Given the description of an element on the screen output the (x, y) to click on. 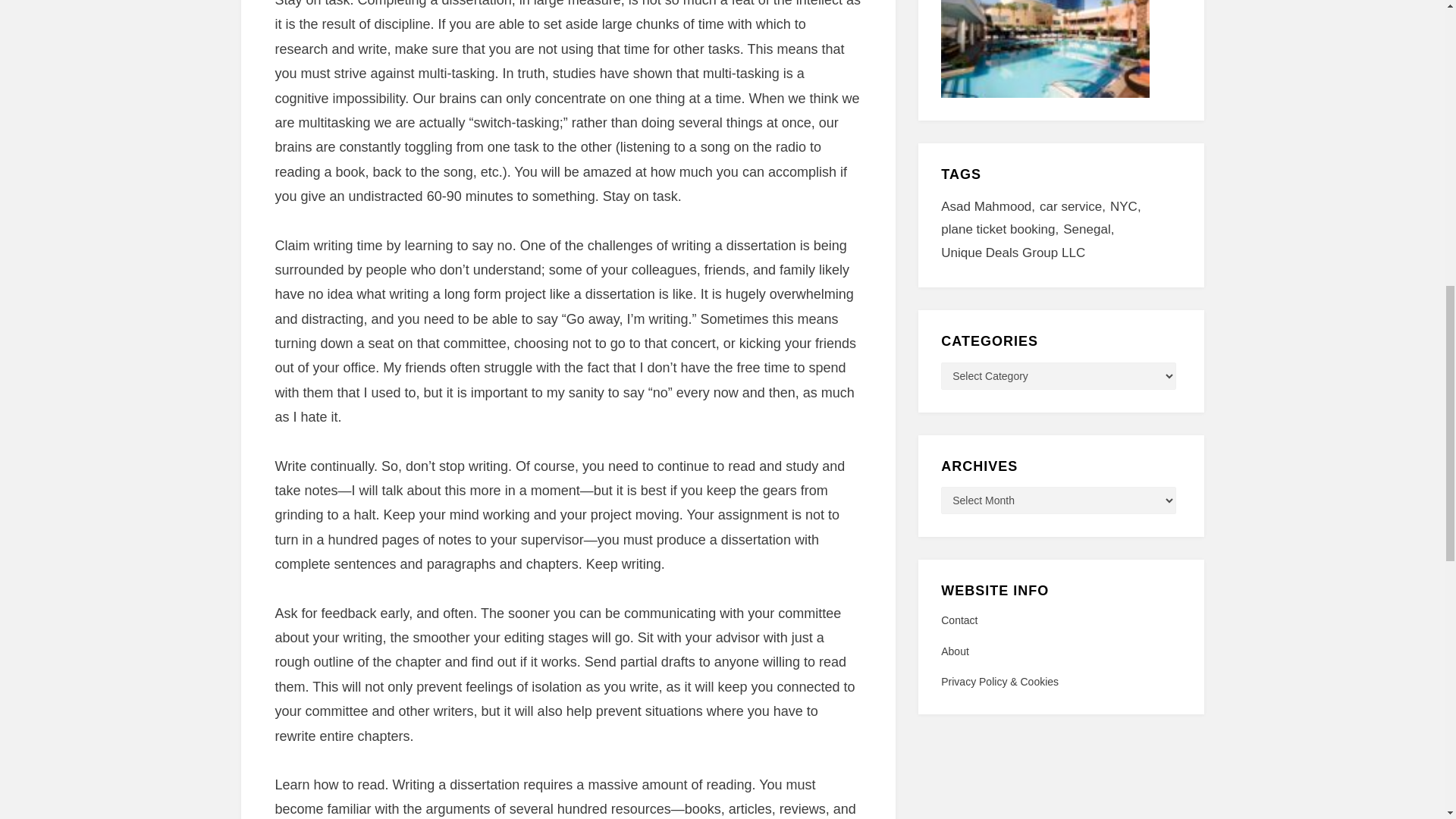
About (1060, 651)
plane ticket booking (1001, 229)
NYC (1127, 207)
Contact (1060, 619)
Asad Mahmood (989, 207)
car service (1074, 207)
Senegal (1090, 229)
Unique Deals Group LLC (1012, 253)
